Given the description of an element on the screen output the (x, y) to click on. 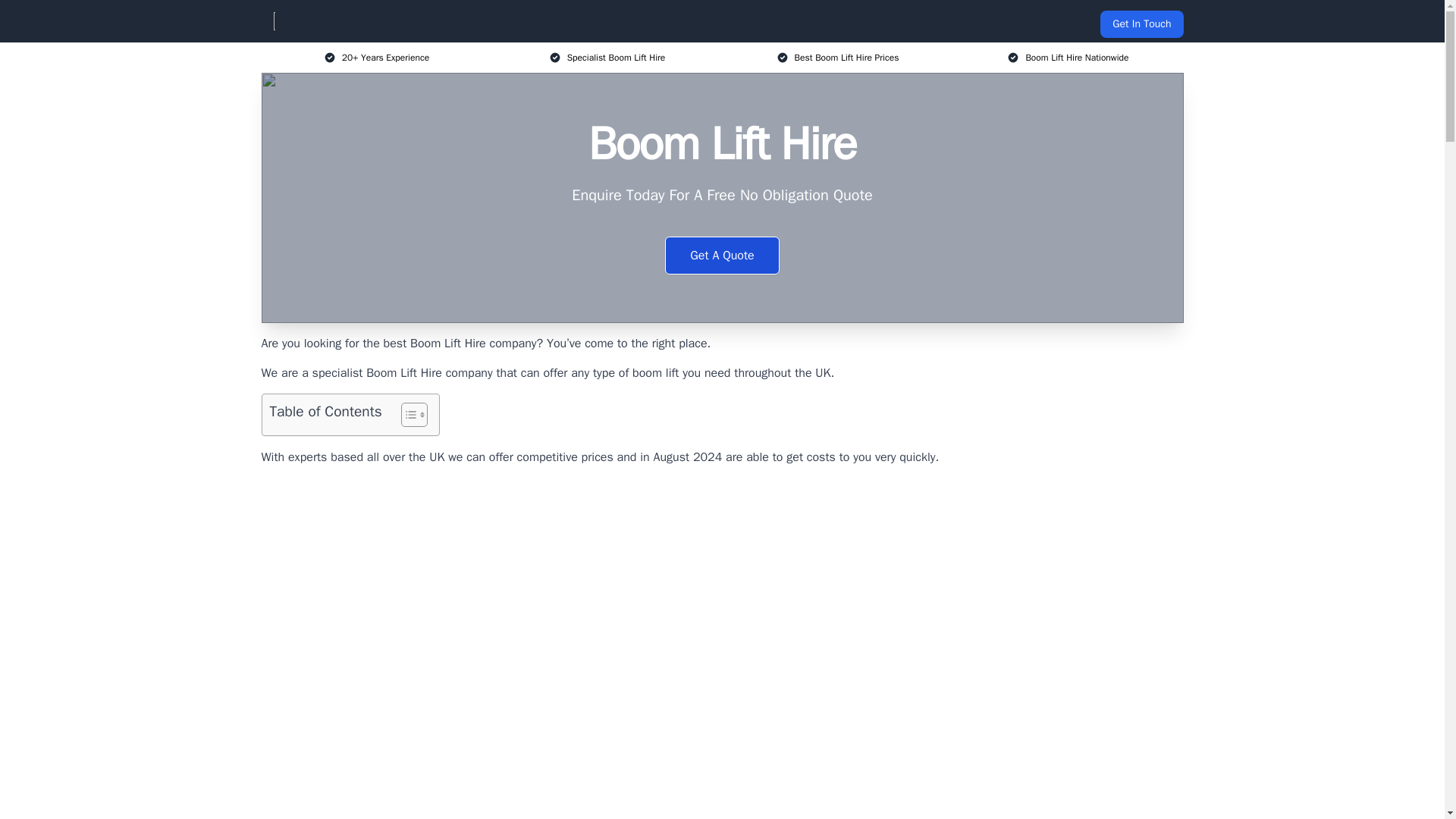
Get A Quote (721, 255)
Get In Touch (1141, 23)
